Given the description of an element on the screen output the (x, y) to click on. 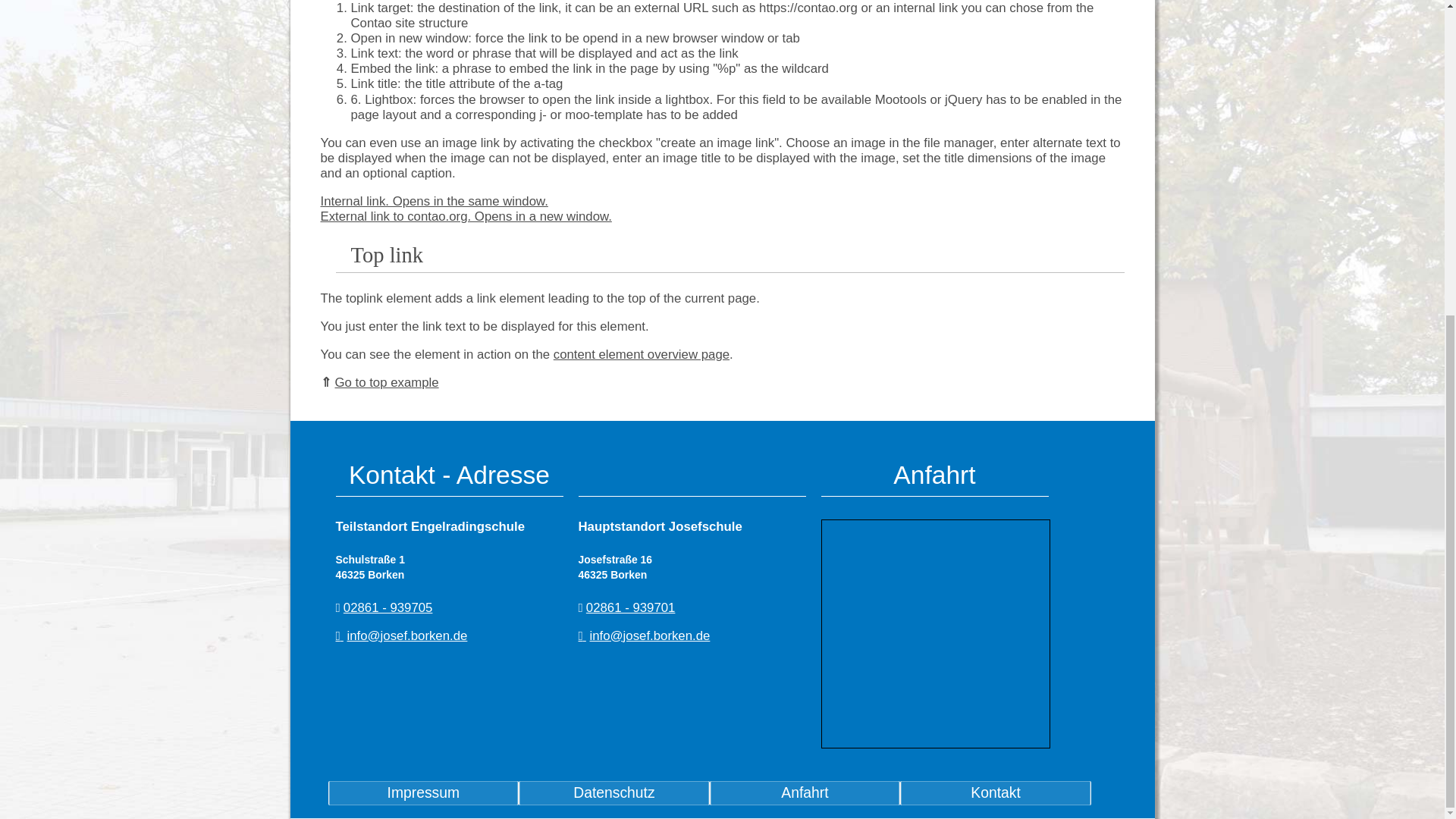
Impressum (423, 793)
External link to contao.org. Opens in a new window. (465, 216)
02861 - 939705 (387, 607)
Internal link. Opens in the same window. (433, 201)
02861 - 939701 (630, 607)
content element overview page (641, 354)
Go to top example (386, 382)
